Given the description of an element on the screen output the (x, y) to click on. 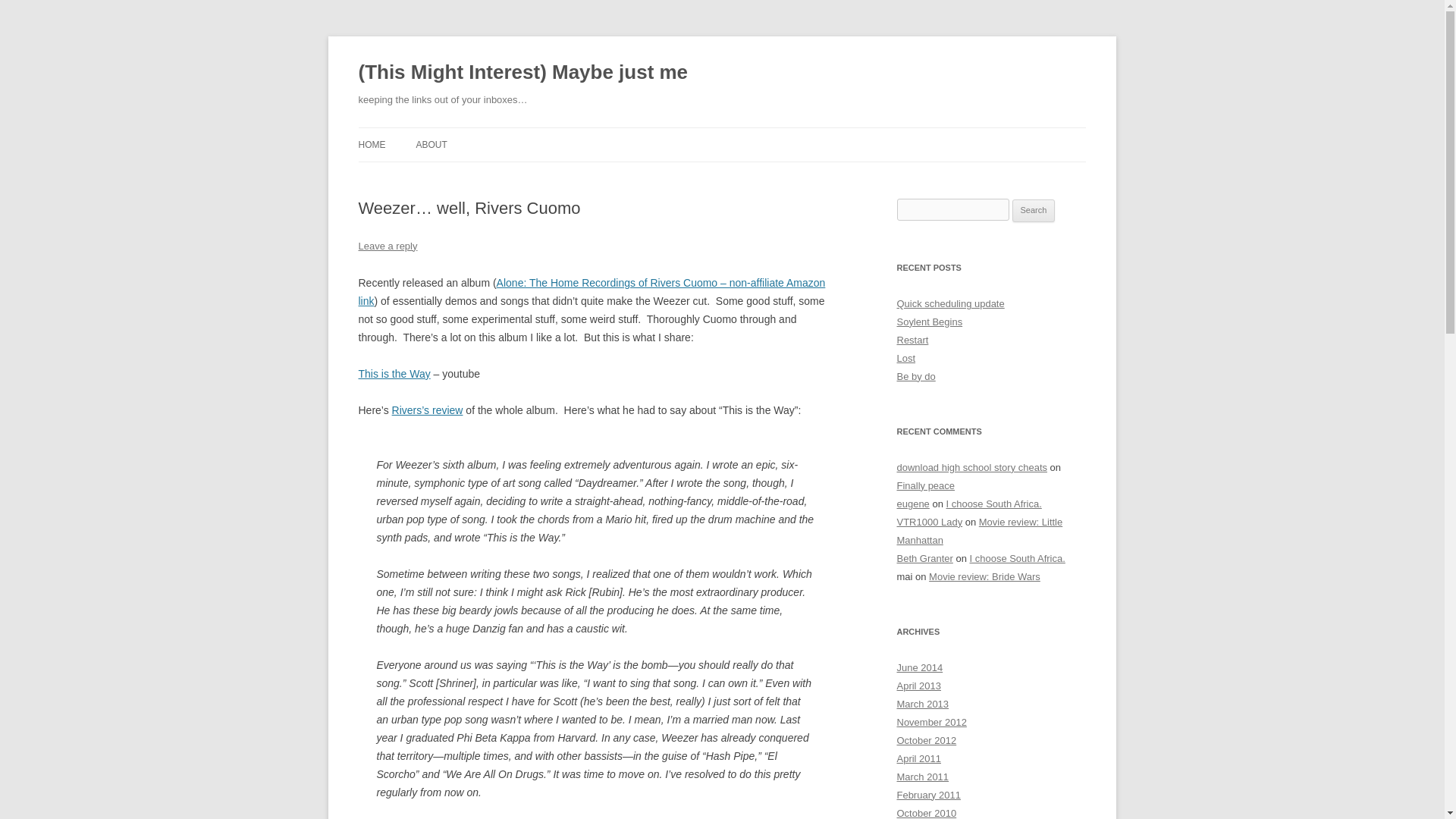
This is the Way (393, 373)
Lost (905, 357)
June 2014 (919, 667)
Be by do (915, 376)
Restart (912, 339)
Beth Granter (924, 558)
April 2013 (918, 685)
this is the way (393, 373)
November 2012 (931, 722)
Quick scheduling update (950, 303)
I choose South Africa. (1017, 558)
Finally peace (925, 485)
March 2013 (922, 704)
Soylent Begins (929, 321)
